Given the description of an element on the screen output the (x, y) to click on. 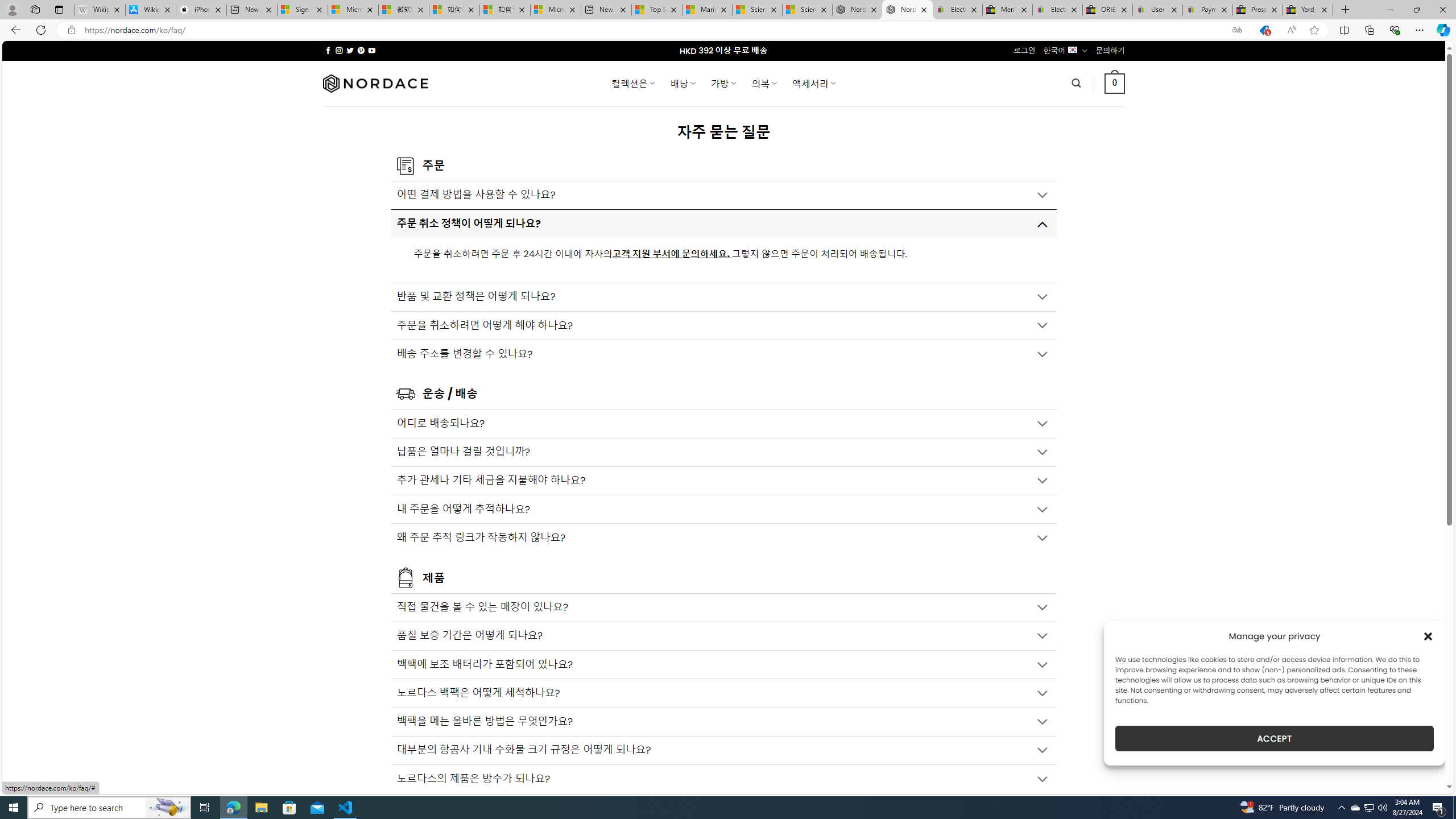
Follow on YouTube (371, 50)
Yard, Garden & Outdoor Living (1308, 9)
iPhone - Apple (201, 9)
